Given the description of an element on the screen output the (x, y) to click on. 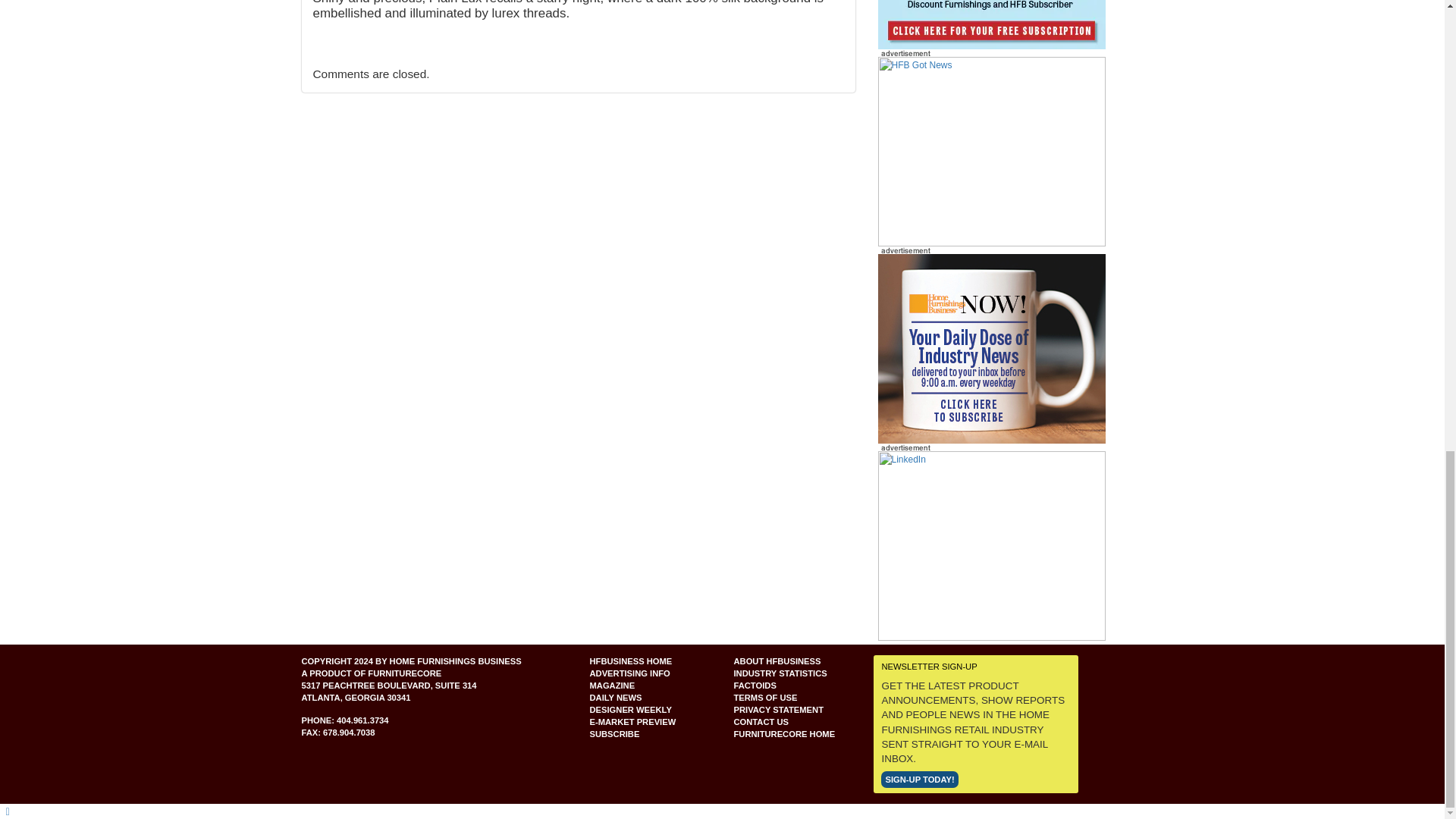
HFB Subscribe IHeart Schell (991, 24)
HFB Subscribe IHeart (991, 151)
HFB Got News (991, 150)
